Given the description of an element on the screen output the (x, y) to click on. 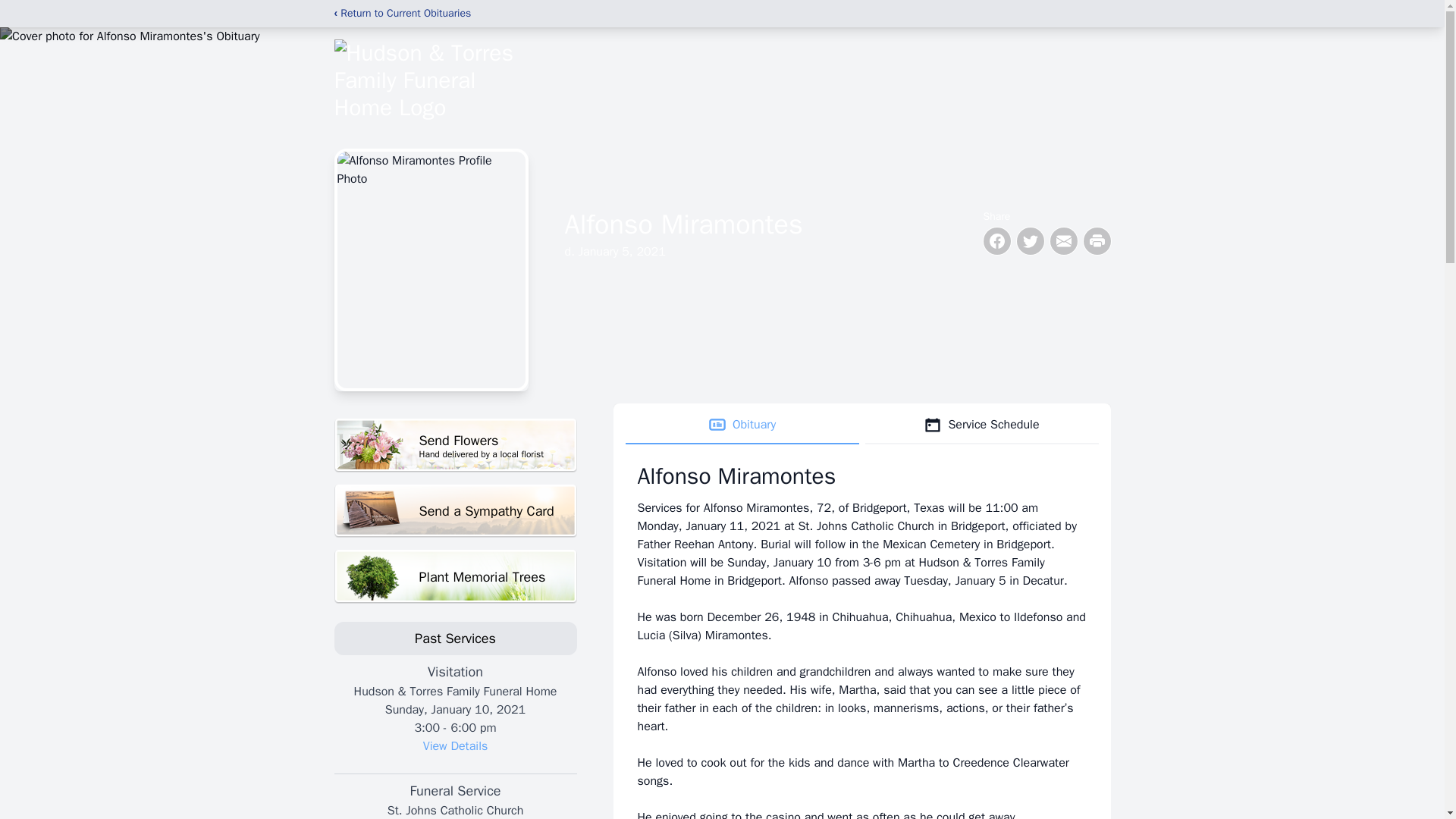
Send a Sympathy Card (454, 511)
View Details (454, 445)
Obituary (455, 745)
Service Schedule (741, 425)
Plant Memorial Trees (980, 425)
